Given the description of an element on the screen output the (x, y) to click on. 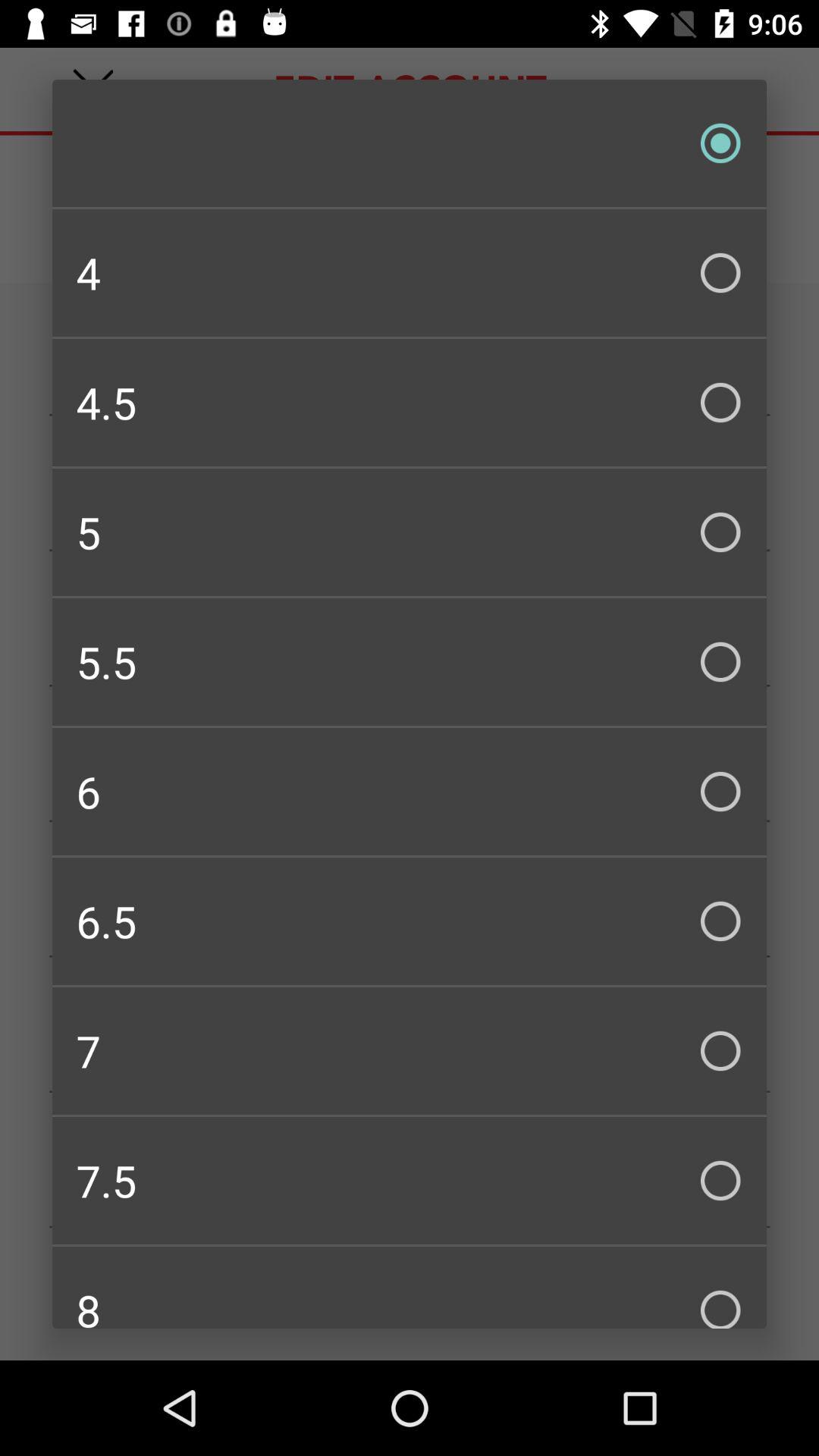
press icon below the 7.5 icon (409, 1287)
